Given the description of an element on the screen output the (x, y) to click on. 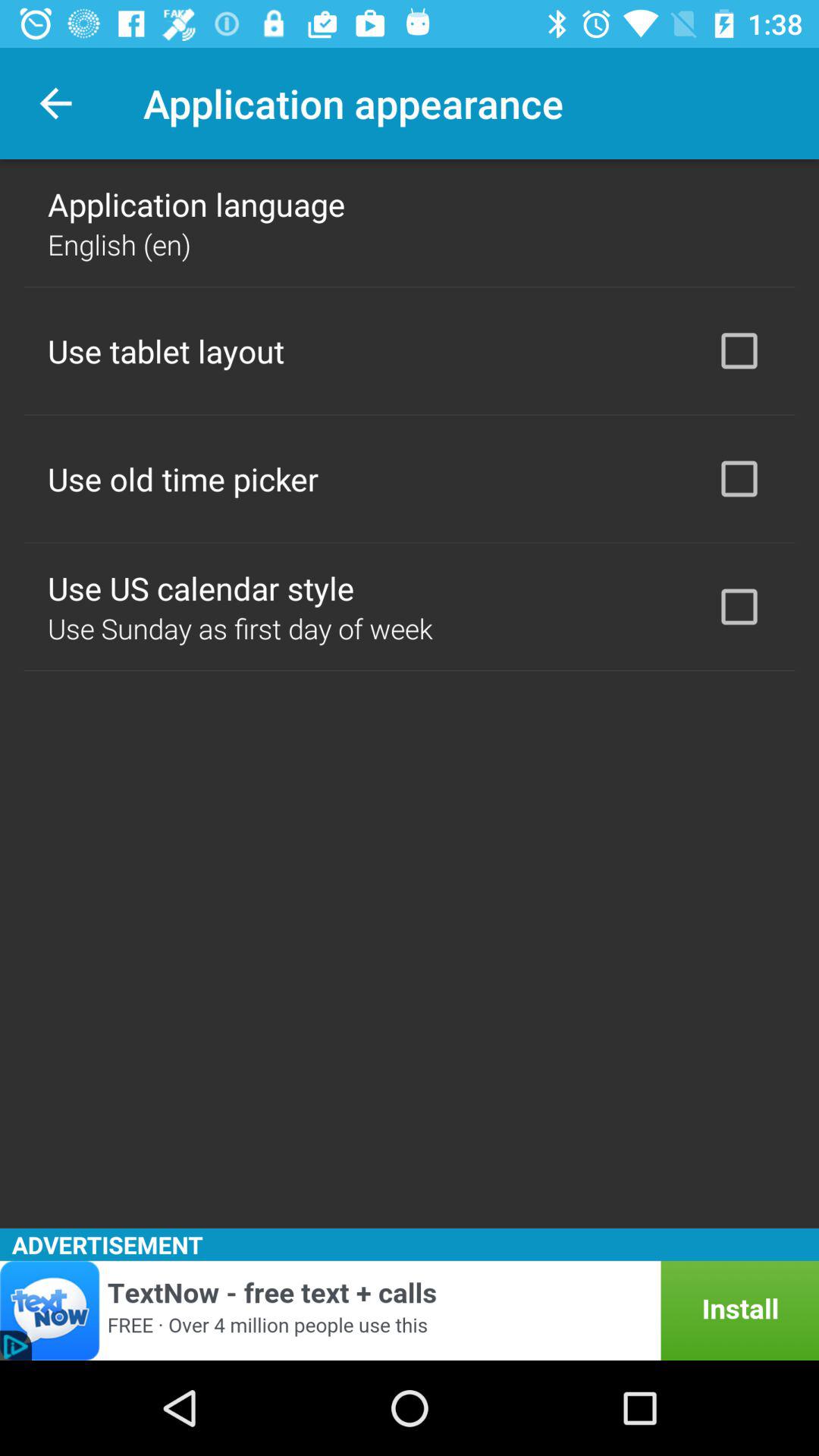
choose the item to the right of the use tablet layout (739, 350)
